Given the description of an element on the screen output the (x, y) to click on. 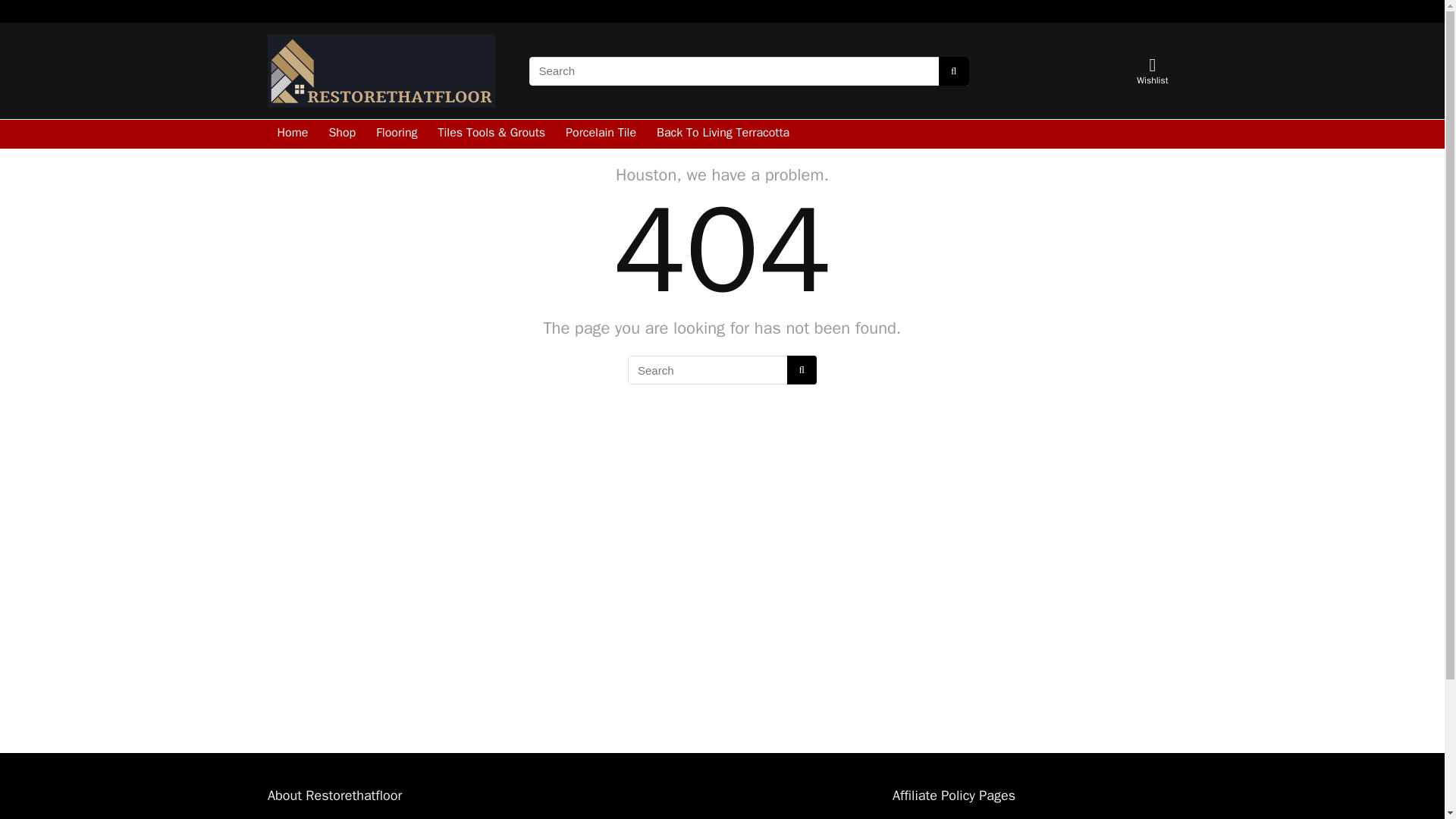
Home (291, 133)
Shop (341, 133)
Porcelain Tile (601, 133)
Flooring (396, 133)
Back To Living Terracotta (722, 133)
